Given the description of an element on the screen output the (x, y) to click on. 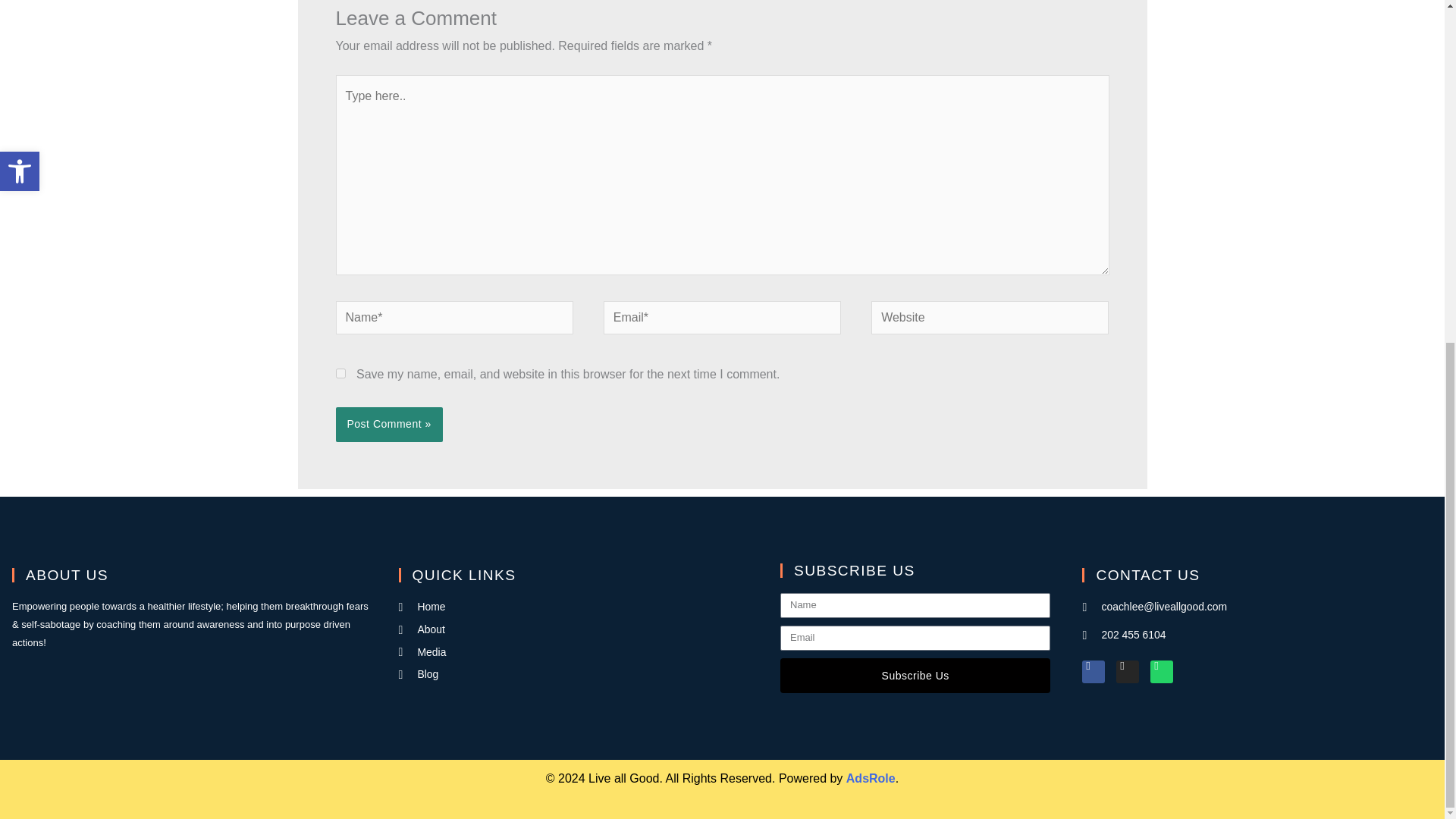
yes (339, 373)
Blog (579, 674)
Subscribe Us (914, 675)
About (579, 629)
Media (579, 652)
202 455 6104 (1256, 635)
Home (579, 607)
